Given the description of an element on the screen output the (x, y) to click on. 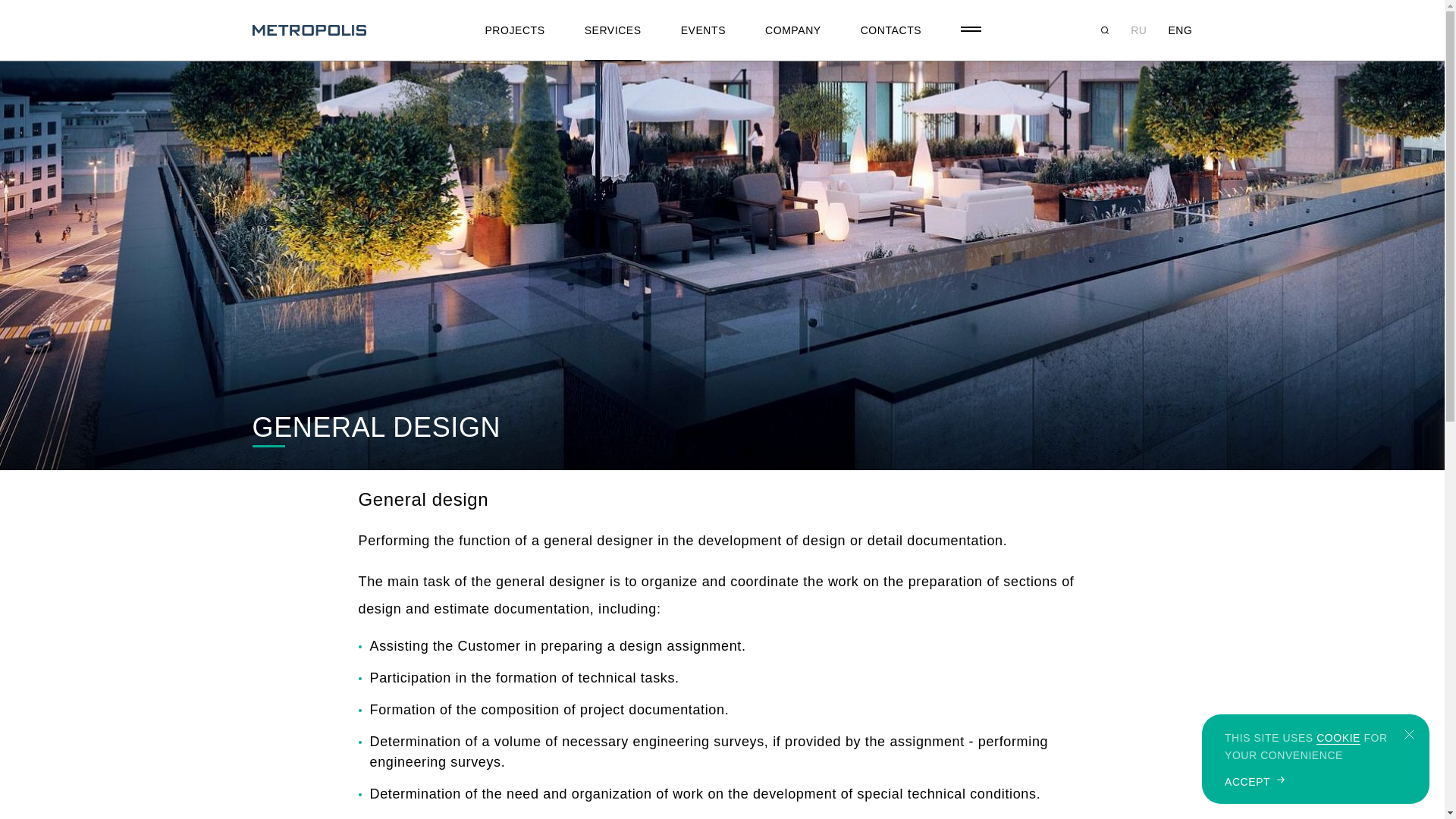
SERVICES (613, 30)
PROJECTS (514, 30)
EVENTS (703, 30)
